Given the description of an element on the screen output the (x, y) to click on. 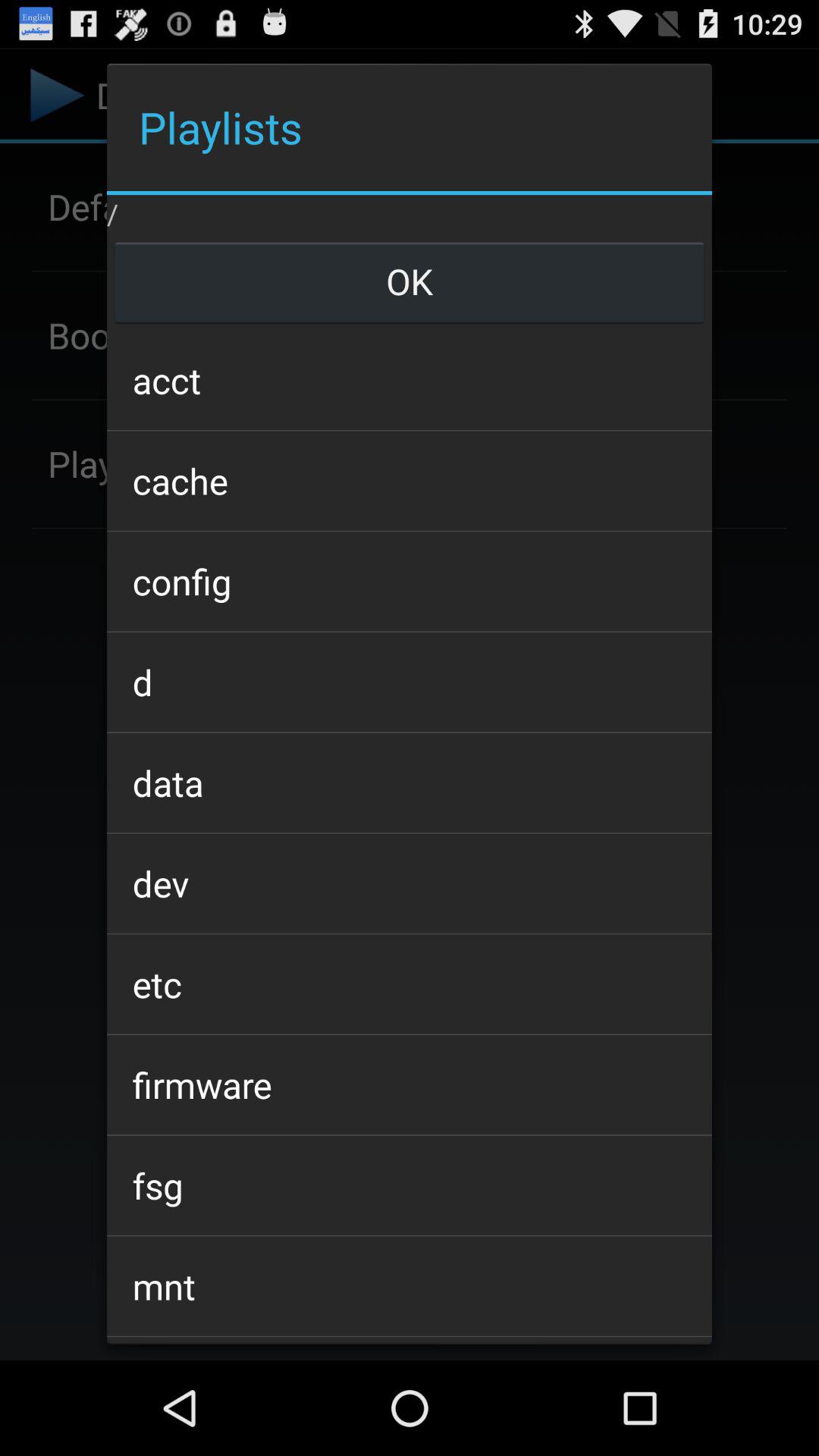
click item below the / app (409, 281)
